Given the description of an element on the screen output the (x, y) to click on. 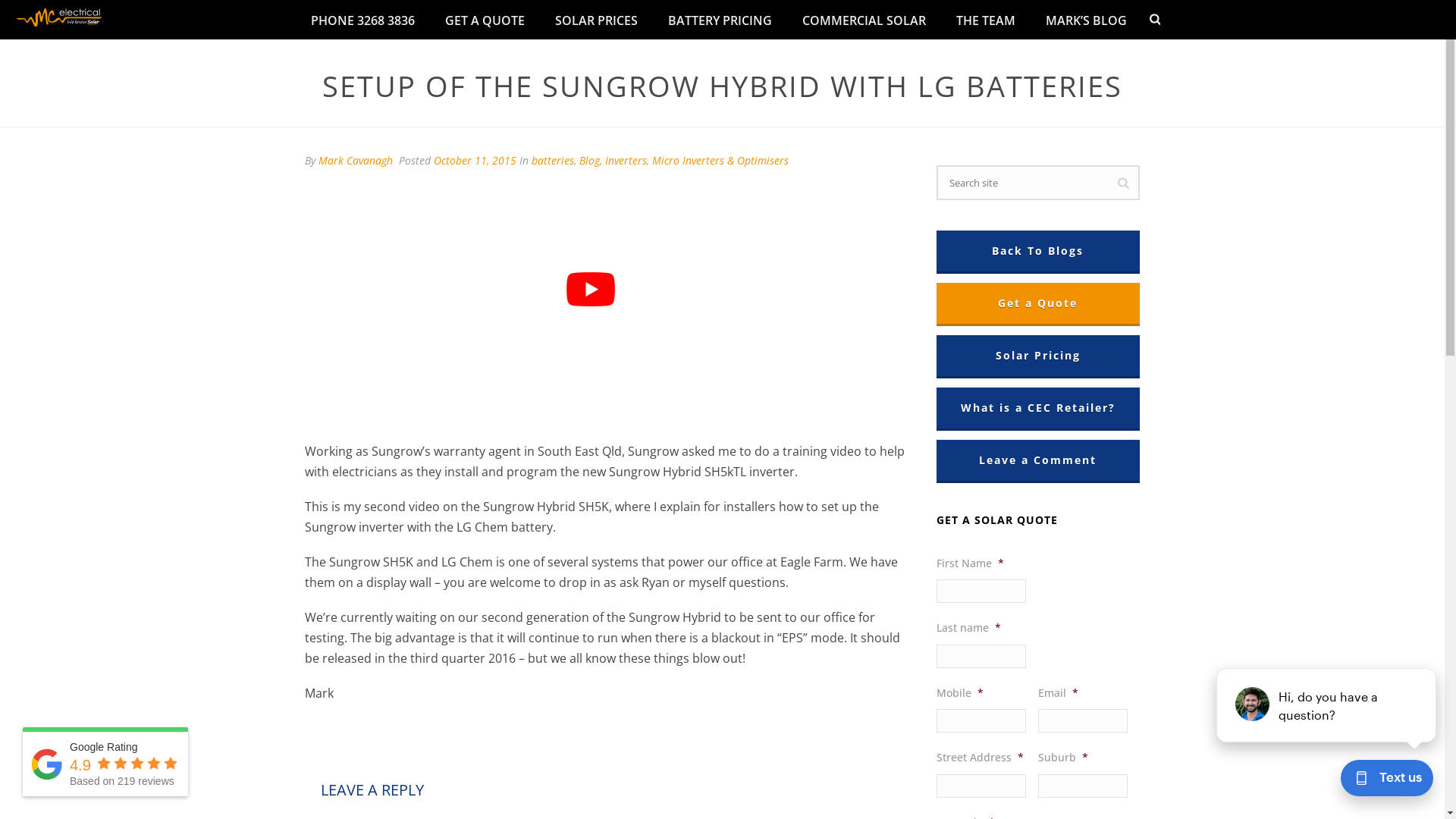
THE TEAM Element type: text (985, 20)
GET A QUOTE Element type: text (484, 20)
BATTERY PRICING Element type: text (719, 20)
Mark Cavanagh Element type: text (355, 160)
October 11, 2015 Element type: text (474, 160)
We Know Solar Element type: hover (60, 18)
What is a CEC Retailer? Element type: text (1037, 407)
Inverters, Micro Inverters & Optimisers Element type: text (696, 160)
PHONE 3268 3836 Element type: text (362, 20)
Back To Blogs Element type: text (1037, 250)
Leave a Comment Element type: text (1037, 459)
COMMERCIAL SOLAR Element type: text (864, 20)
Get a Quote Element type: text (1037, 302)
SOLAR PRICES Element type: text (595, 20)
batteries Element type: text (552, 160)
Solar Pricing Element type: text (1037, 355)
Blog Element type: text (589, 160)
